Given the description of an element on the screen output the (x, y) to click on. 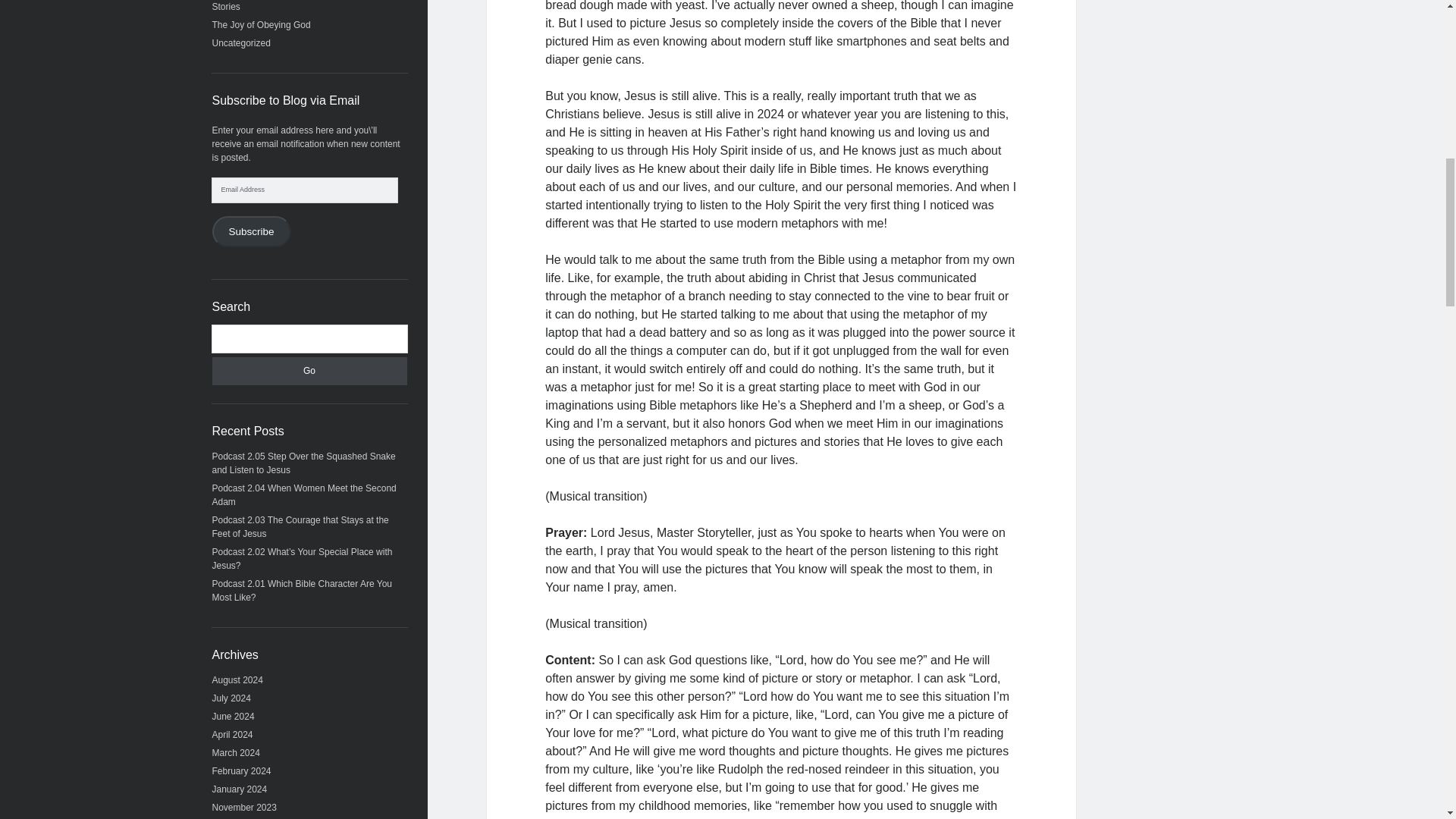
Podcast 2.03 The Courage that Stays at the Feet of Jesus (300, 526)
Podcast 2.01 Which Bible Character Are You Most Like? (301, 590)
Podcast 2.04 When Women Meet the Second Adam (304, 494)
Go (309, 370)
Subscribe (251, 230)
Go (309, 370)
Go (309, 370)
Search for: (309, 338)
Stories (226, 6)
